Given the description of an element on the screen output the (x, y) to click on. 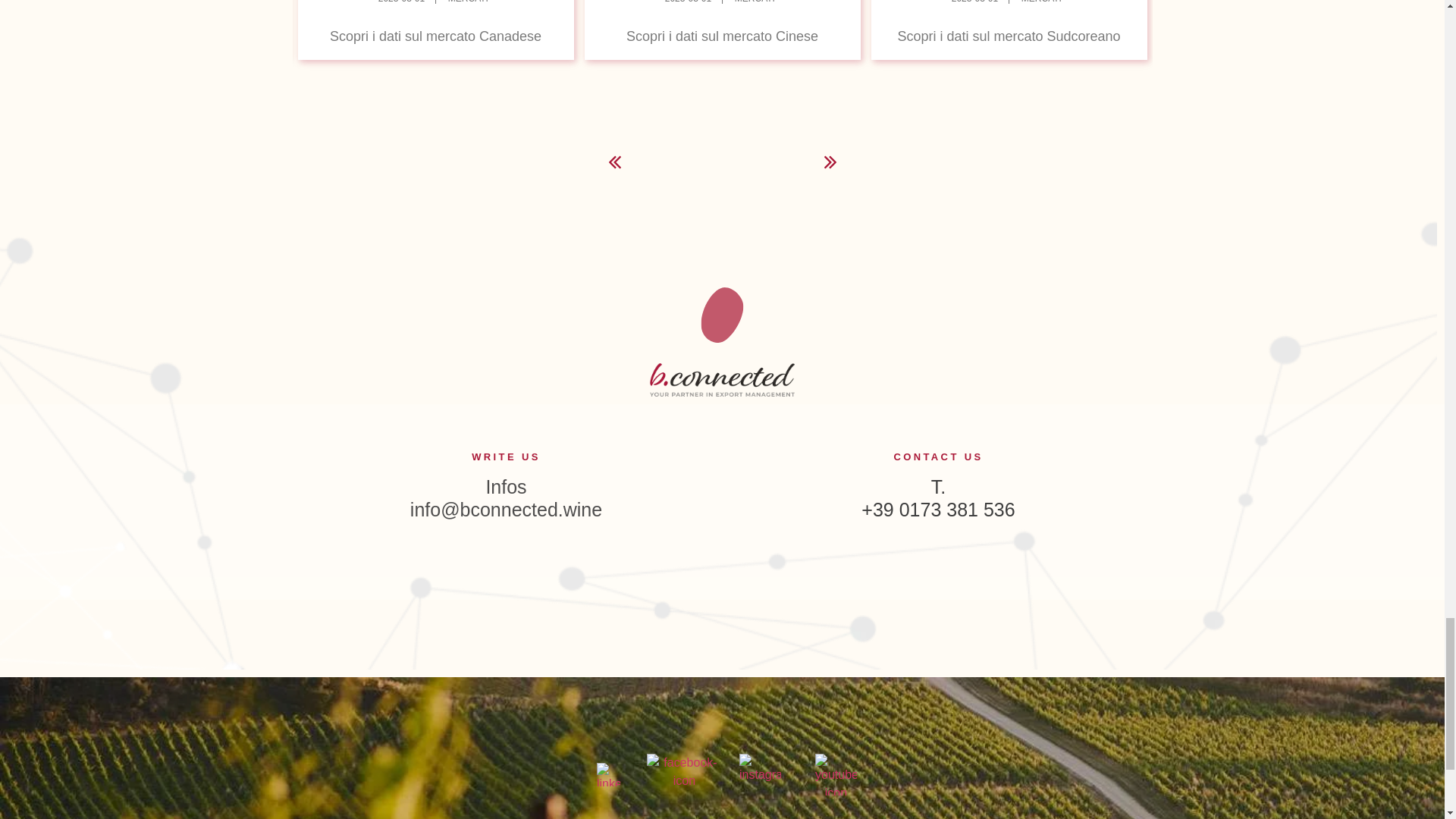
instagram (759, 774)
linkedin-icon (608, 774)
facebook-icon (684, 774)
youtube-icon (836, 774)
